Given the description of an element on the screen output the (x, y) to click on. 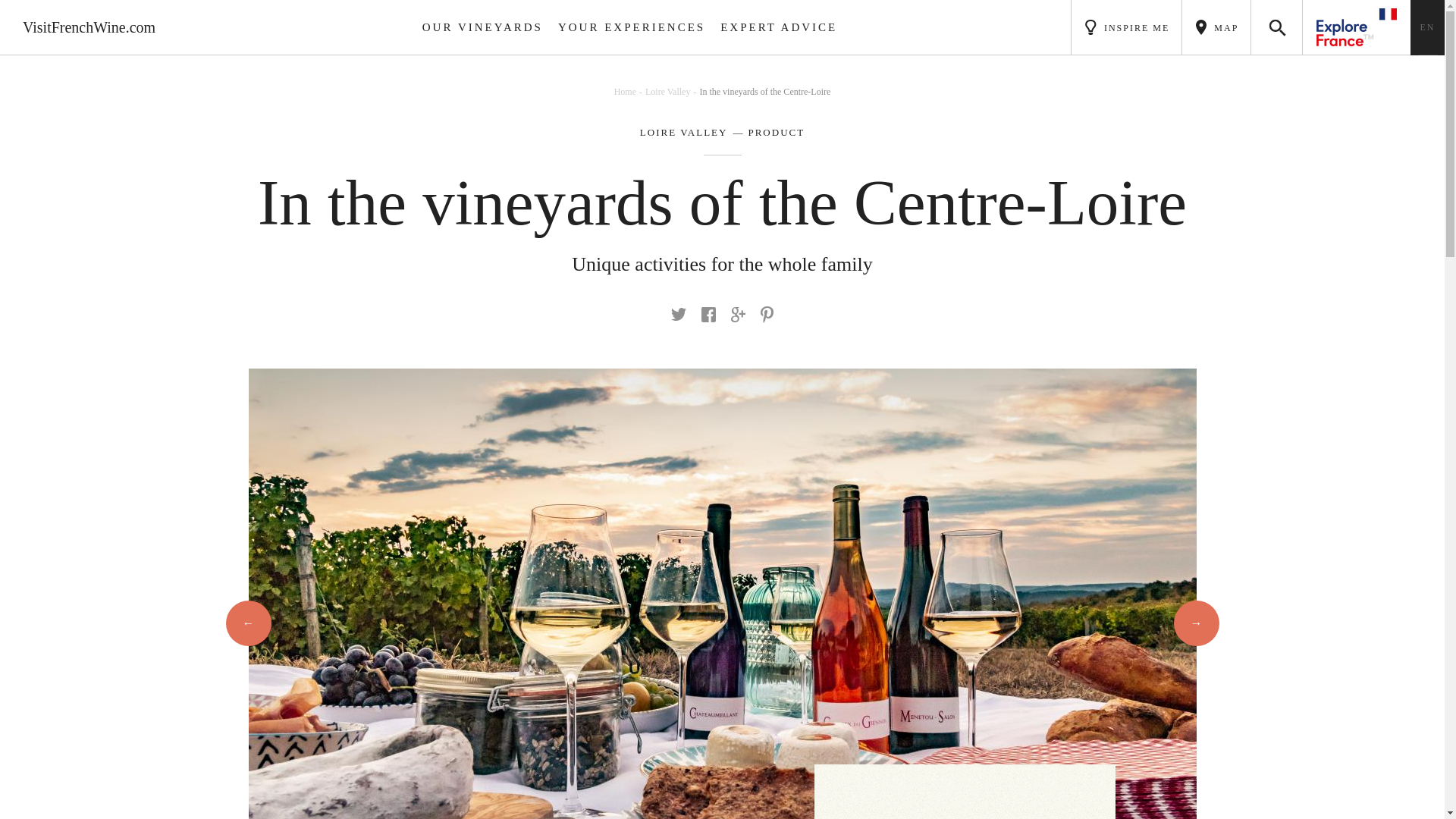
Page vignoble Loire Valley (684, 133)
PRODUCT (767, 133)
VisitFrenchWine.com (89, 27)
Visit 100006935107654 on Facebook (708, 314)
INSPIRE ME (1125, 27)
Visit French Wine (89, 27)
LOIRE VALLEY (684, 133)
MAP (1216, 27)
Previous (247, 623)
EXPERT ADVICE (778, 27)
france.fr (1356, 27)
Loire Valley (671, 91)
Home (629, 91)
YOUR EXPERIENCES (631, 27)
